Given the description of an element on the screen output the (x, y) to click on. 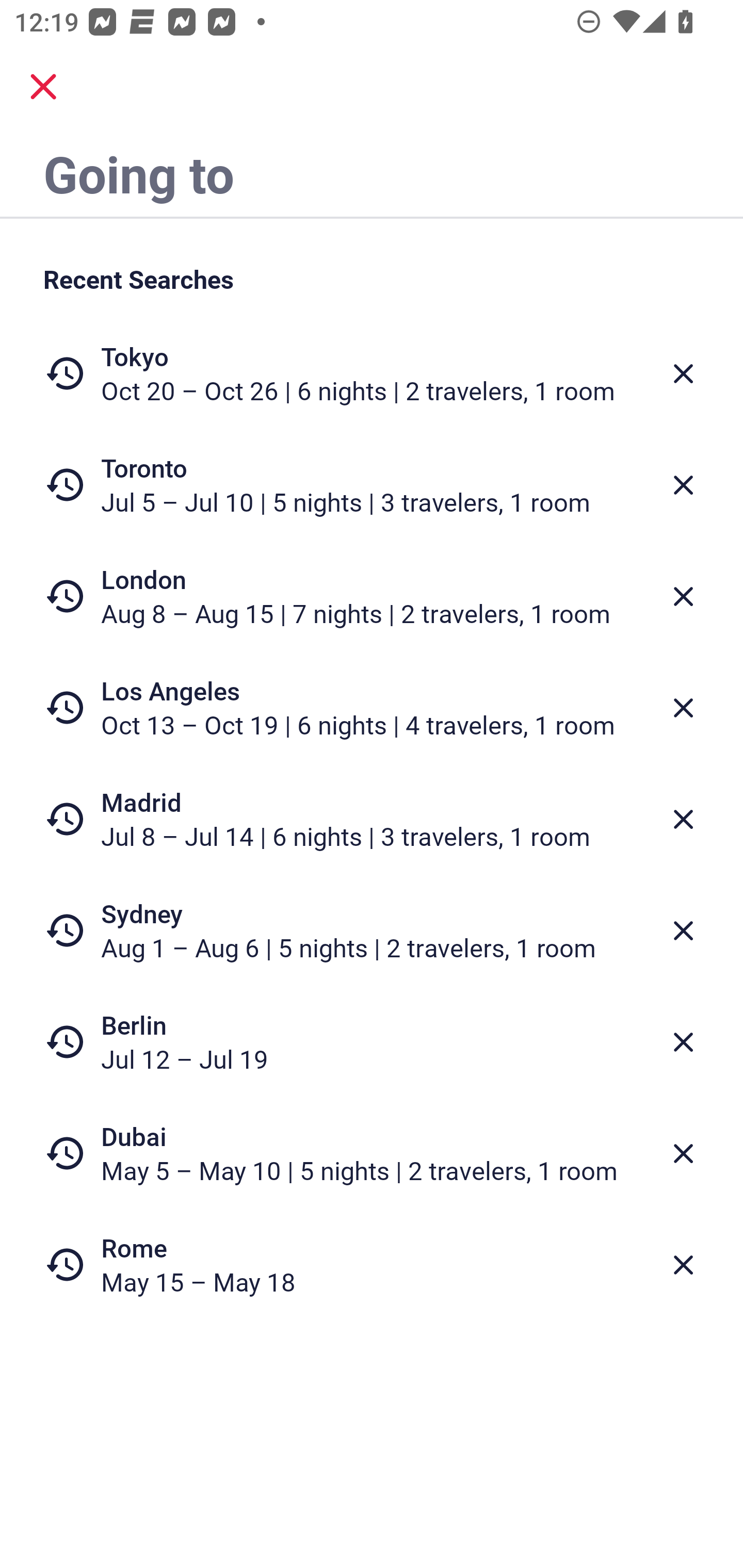
close. (43, 86)
Delete from recent searches (683, 373)
Delete from recent searches (683, 485)
Delete from recent searches (683, 596)
Delete from recent searches (683, 707)
Delete from recent searches (683, 819)
Delete from recent searches (683, 930)
Berlin Jul 12 – Jul 19 (371, 1041)
Delete from recent searches (683, 1041)
Delete from recent searches (683, 1153)
Rome May 15 – May 18 (371, 1264)
Delete from recent searches (683, 1265)
